Given the description of an element on the screen output the (x, y) to click on. 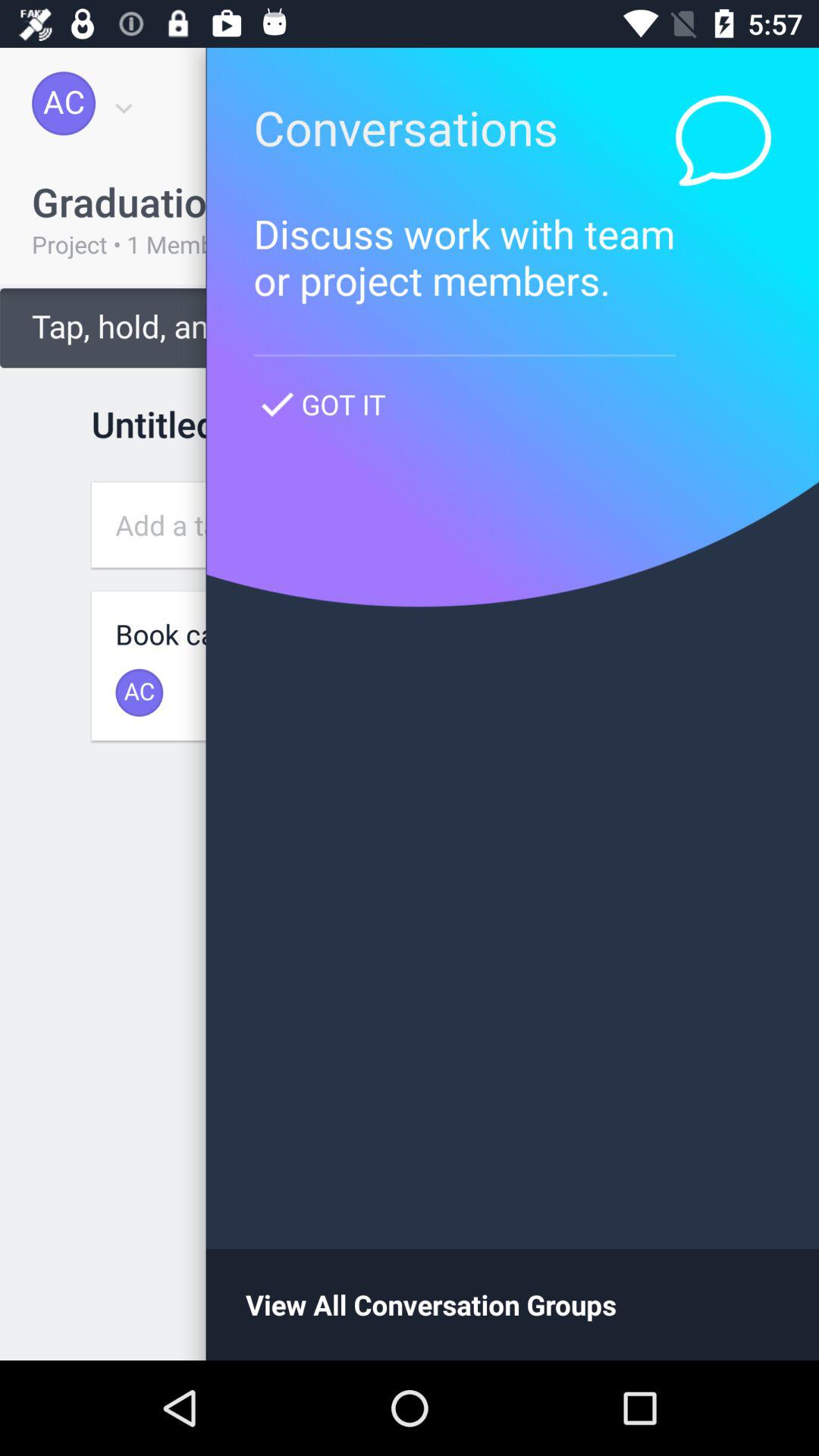
click on the conversation icon below 557 (723, 141)
